Given the description of an element on the screen output the (x, y) to click on. 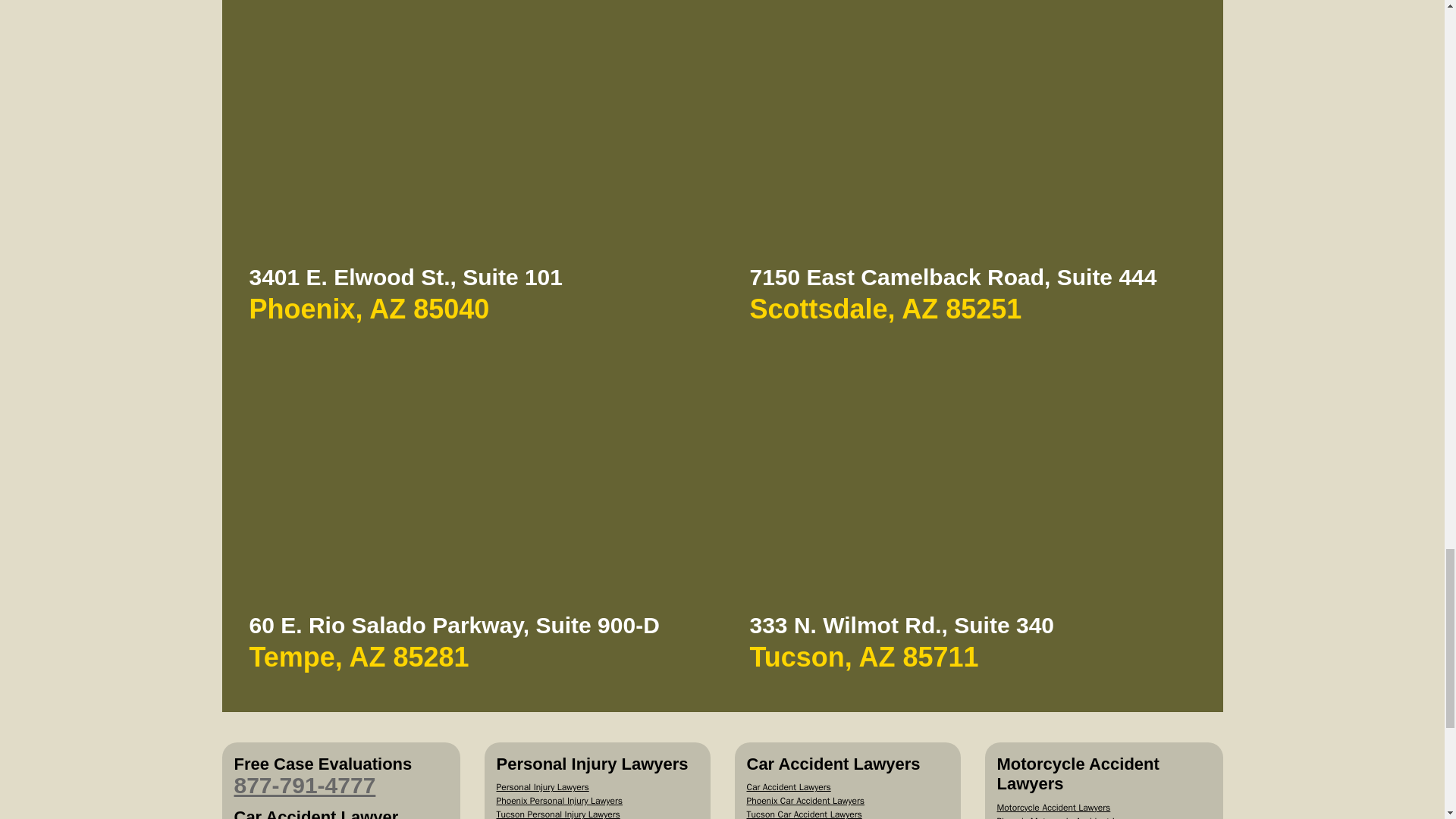
Tucson Personal Injury Lawyers (558, 813)
877-791-4777 (303, 785)
Personal Injury Lawyers (542, 787)
Phoenix Personal Injury Lawyers (559, 800)
